Given the description of an element on the screen output the (x, y) to click on. 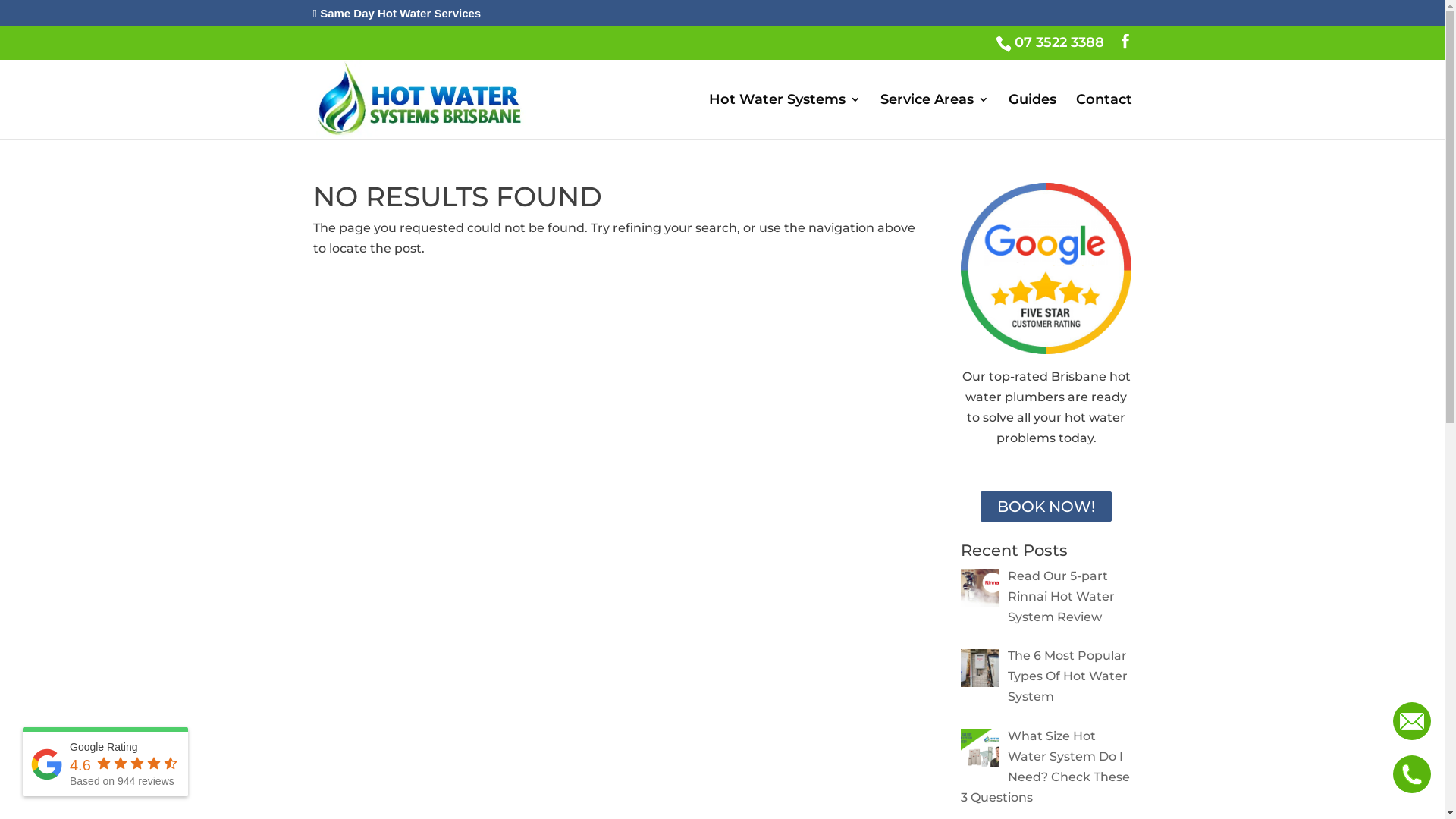
The 6 Most Popular Types Of Hot Water System Element type: text (1067, 675)
Contact Element type: text (1103, 116)
BOOK NOW! Element type: text (1045, 506)
Service Areas Element type: text (933, 116)
Read Our 5-part Rinnai Hot Water System Review Element type: text (1060, 596)
07 3522 3388 Element type: text (1059, 42)
Guides Element type: text (1032, 116)
Hot Water Systems Element type: text (783, 116)
